Given the description of an element on the screen output the (x, y) to click on. 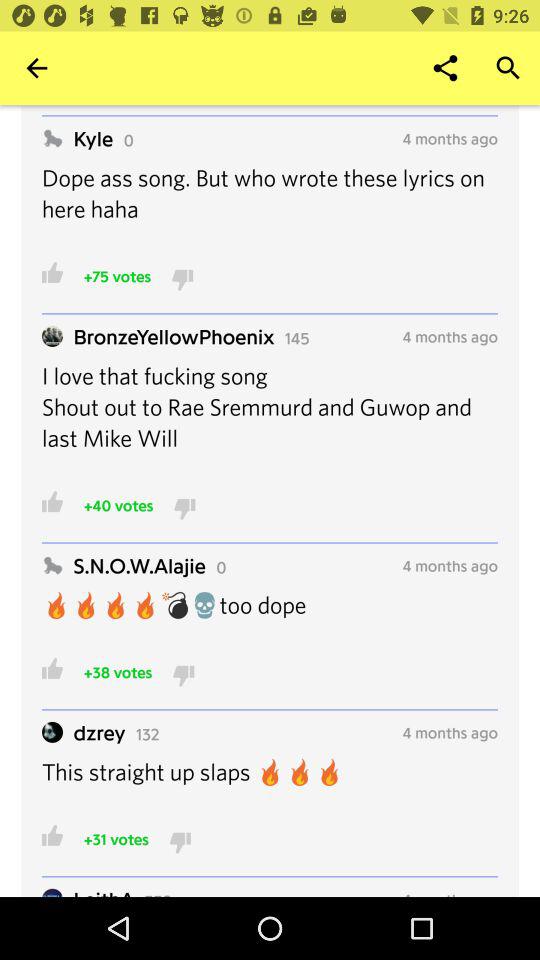
open i love that item (270, 419)
